Given the description of an element on the screen output the (x, y) to click on. 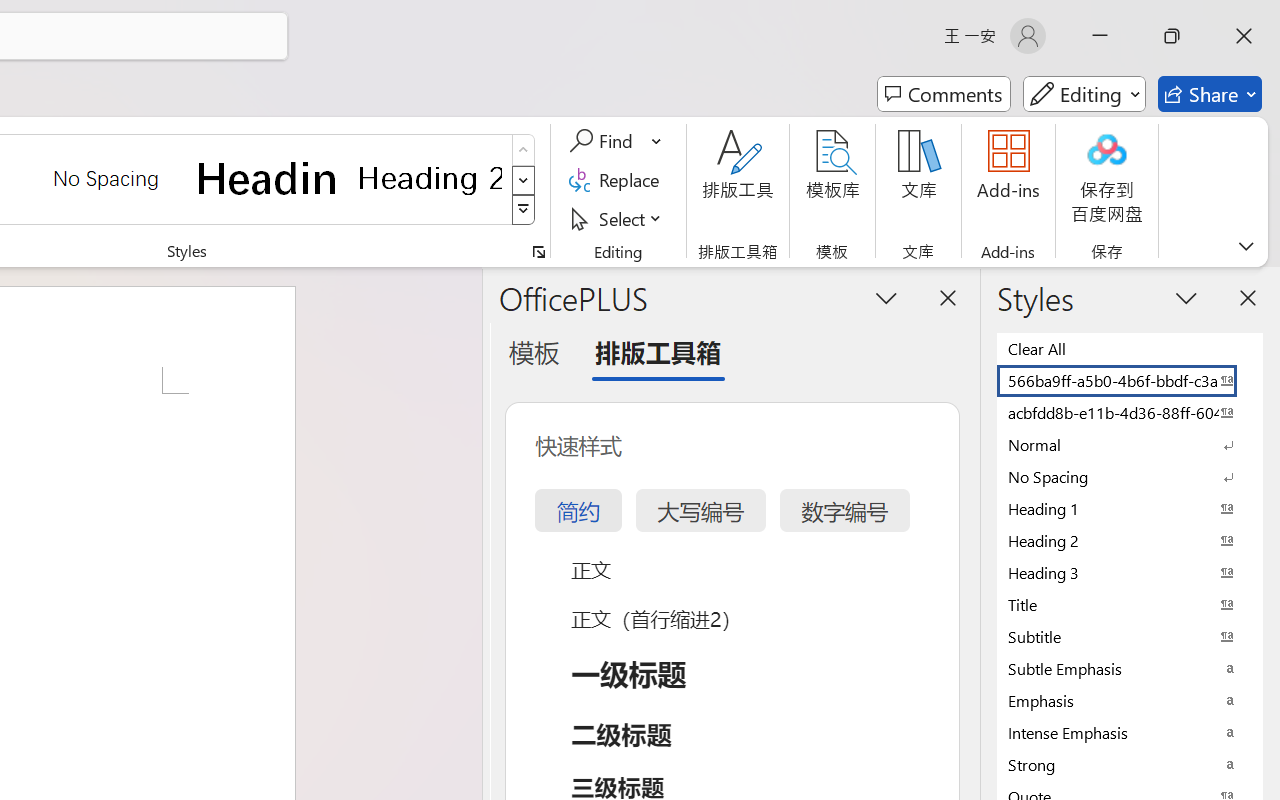
Find (616, 141)
More Options (657, 141)
Comments (943, 94)
Class: NetUIImage (523, 210)
Replace... (617, 179)
Ribbon Display Options (1246, 245)
Title (1130, 604)
Mode (1083, 94)
Clear All (1130, 348)
acbfdd8b-e11b-4d36-88ff-6049b138f862 (1130, 412)
